Given the description of an element on the screen output the (x, y) to click on. 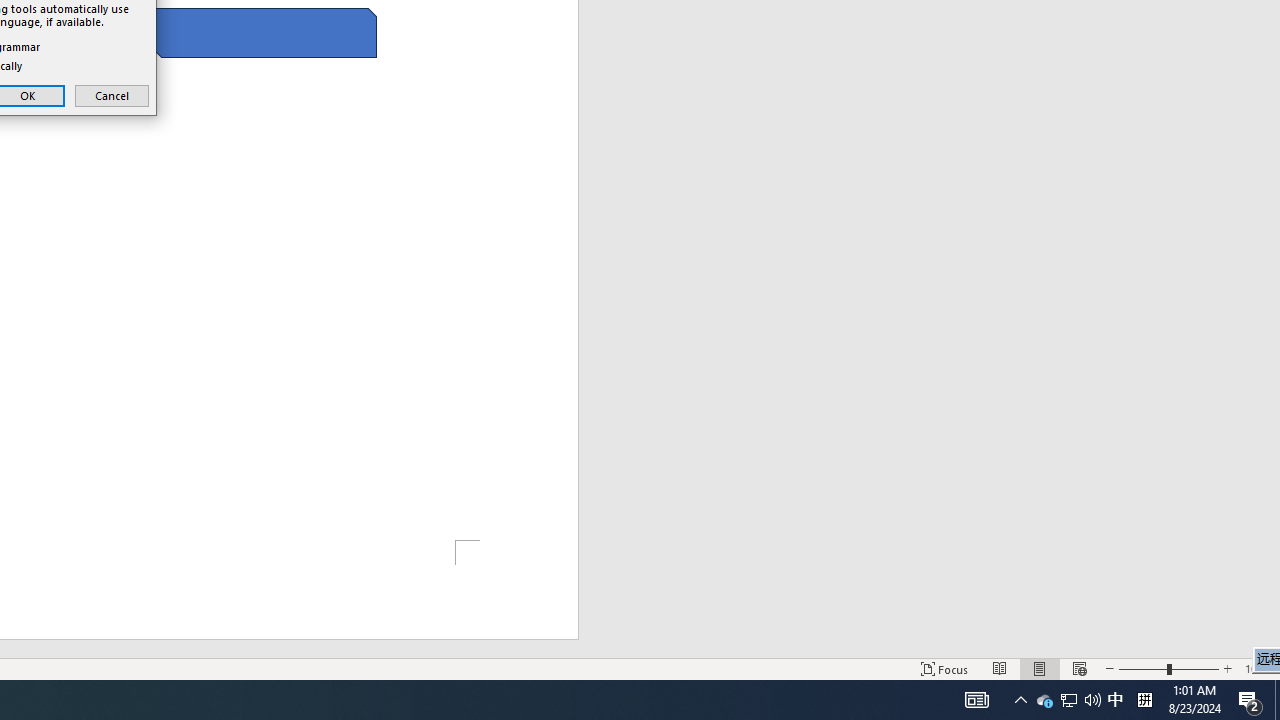
Cancel (111, 96)
